Given the description of an element on the screen output the (x, y) to click on. 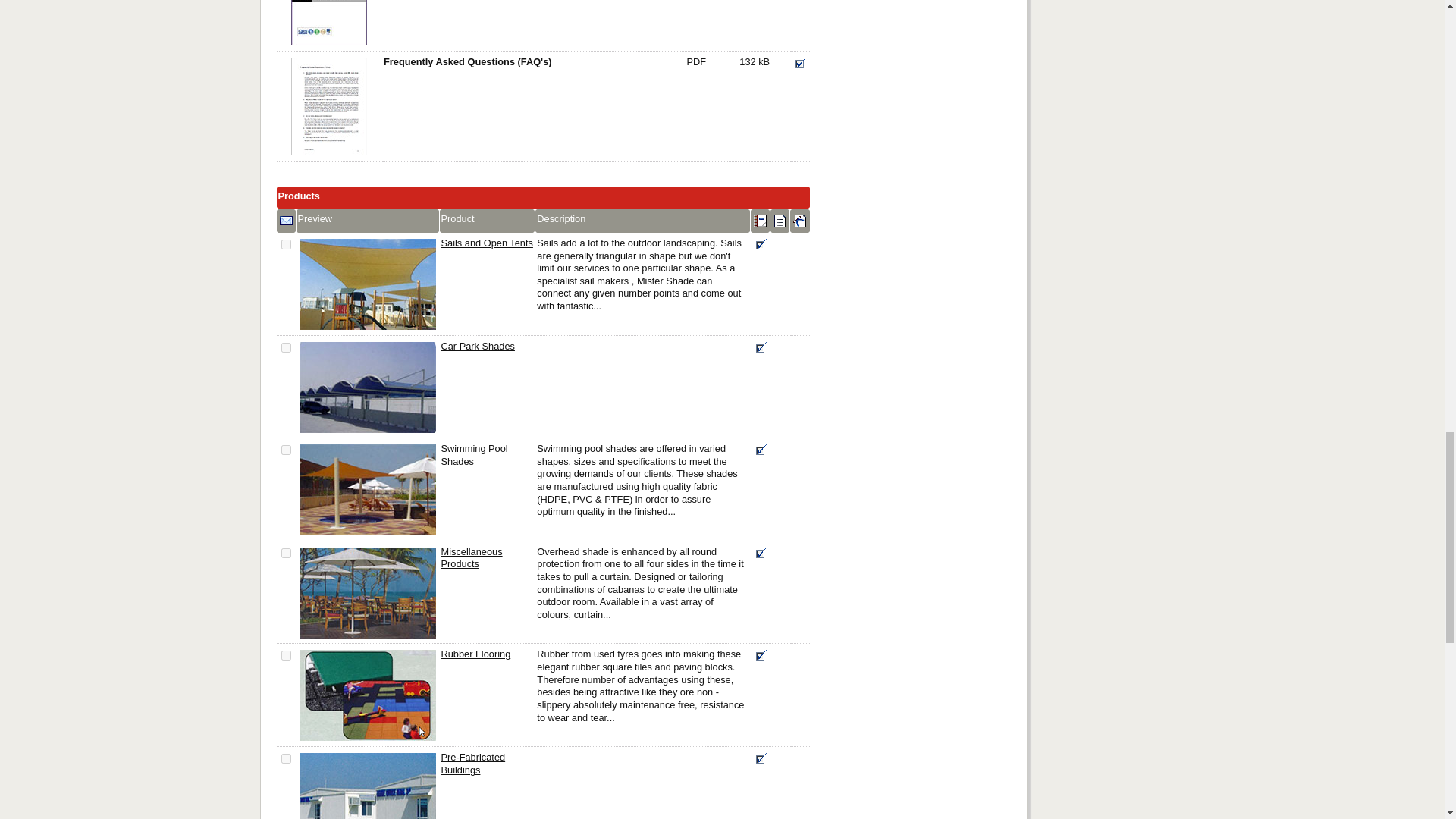
1498363 (286, 244)
1498365 (286, 347)
1498364 (286, 450)
1498347 (286, 552)
1498366 (286, 655)
1498398 (286, 758)
